Given the description of an element on the screen output the (x, y) to click on. 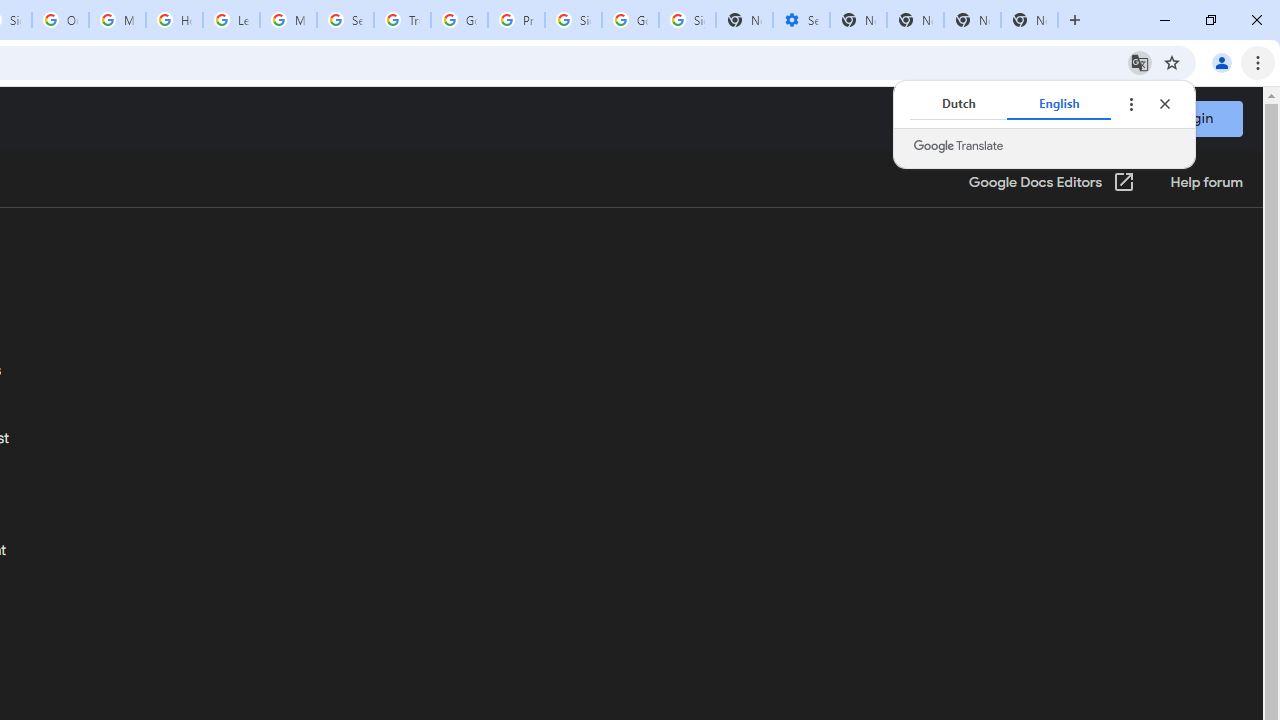
Login (1194, 118)
Search our Doodle Library Collection - Google Doodles (345, 20)
Dutch (958, 103)
Sign in - Google Accounts (573, 20)
Settings - Performance (801, 20)
Google Ads - Sign in (459, 20)
Translate this page (1139, 62)
Sign in - Google Accounts (687, 20)
